Given the description of an element on the screen output the (x, y) to click on. 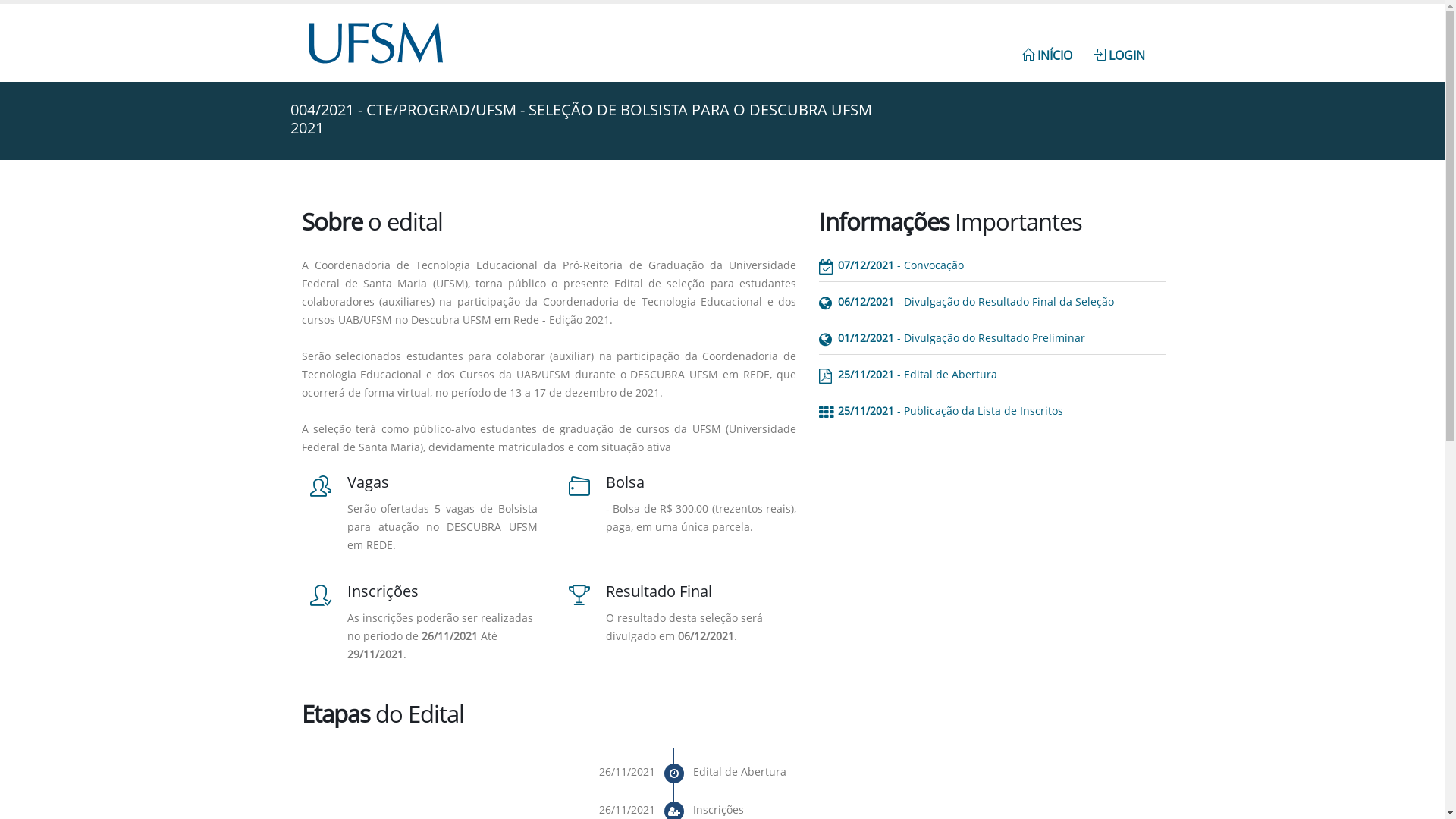
25/11/2021 - Edital de Abertura Element type: text (1001, 374)
LOGIN Element type: text (1118, 46)
